Given the description of an element on the screen output the (x, y) to click on. 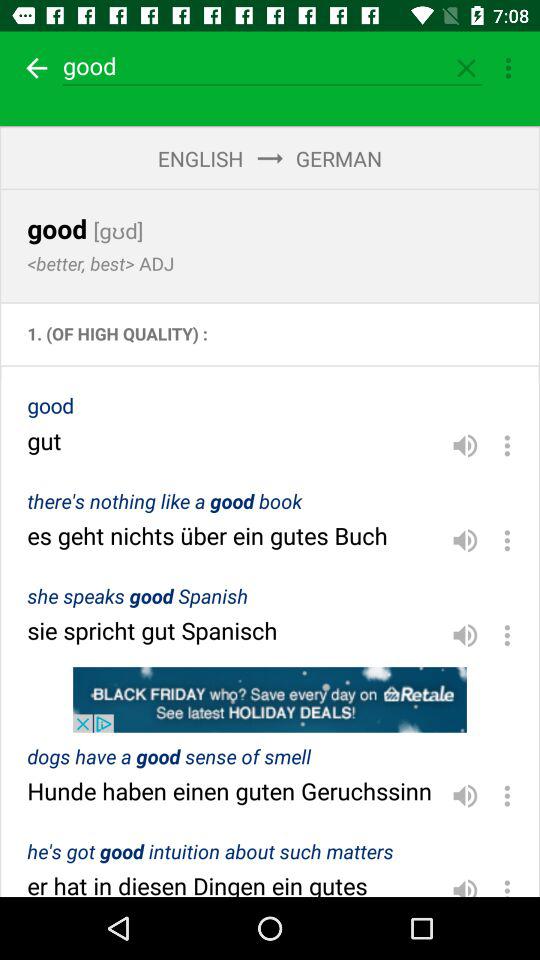
go to options (507, 796)
